Given the description of an element on the screen output the (x, y) to click on. 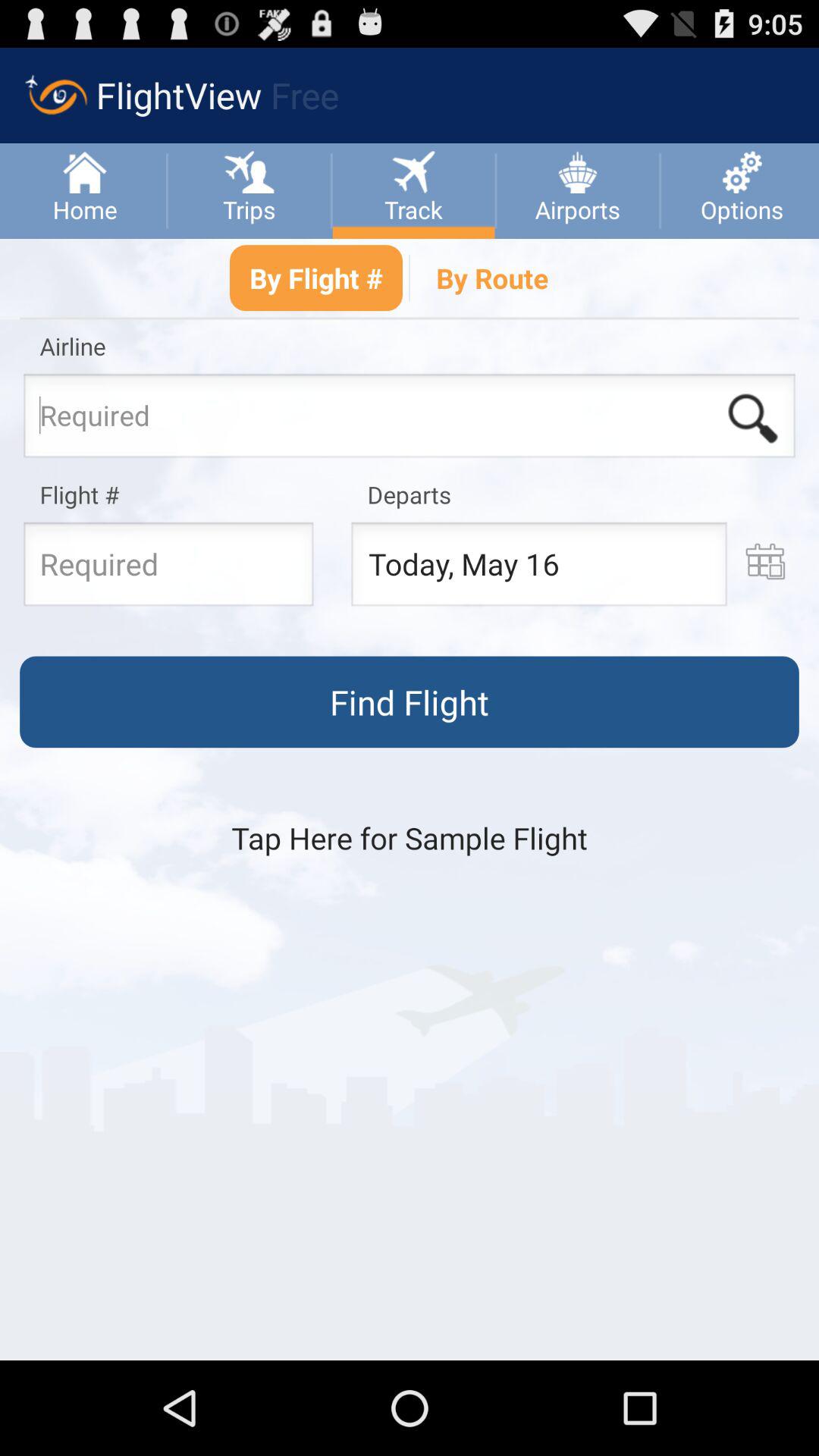
enter flight number (168, 568)
